Given the description of an element on the screen output the (x, y) to click on. 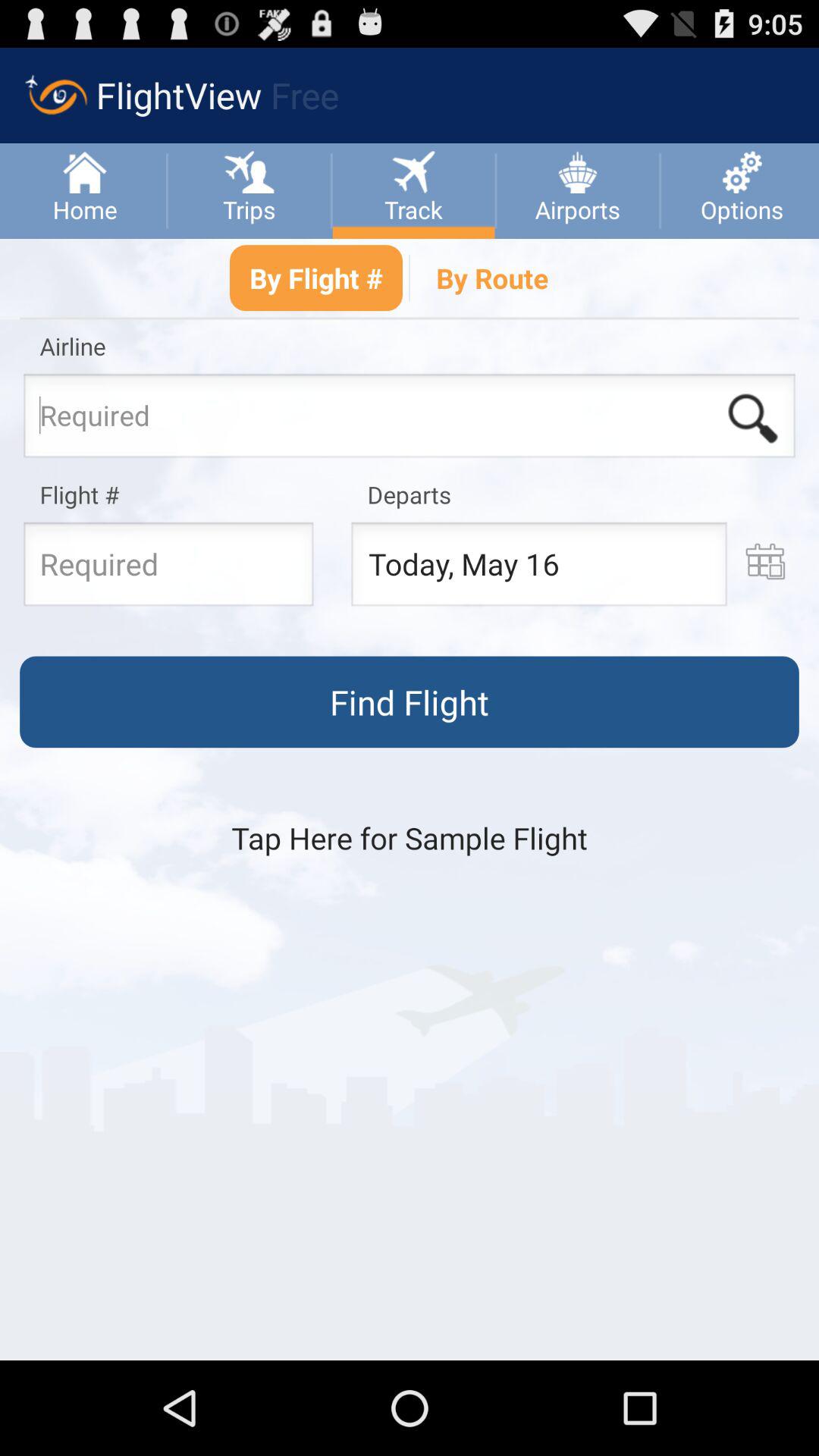
enter flight number (168, 568)
